Given the description of an element on the screen output the (x, y) to click on. 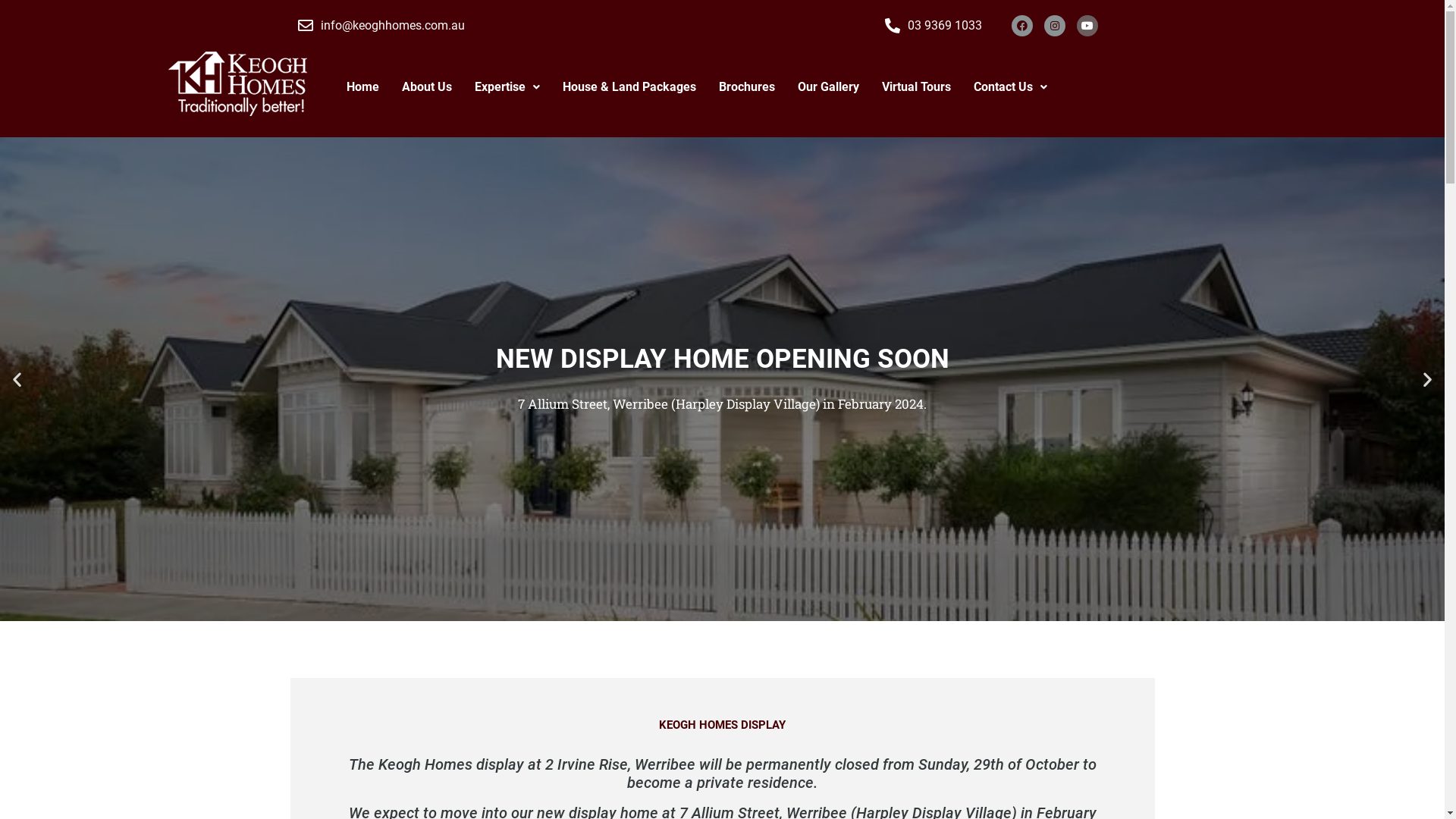
Contact Us Element type: text (1010, 86)
Our Gallery Element type: text (828, 86)
House & Land Packages Element type: text (629, 86)
About Us Element type: text (426, 86)
Brochures Element type: text (746, 86)
Expertise Element type: text (507, 86)
info@keoghhomes.com.au Element type: text (583, 25)
03 9369 1033 Element type: text (939, 25)
Virtual Tours Element type: text (916, 86)
Home Element type: text (362, 86)
